Given the description of an element on the screen output the (x, y) to click on. 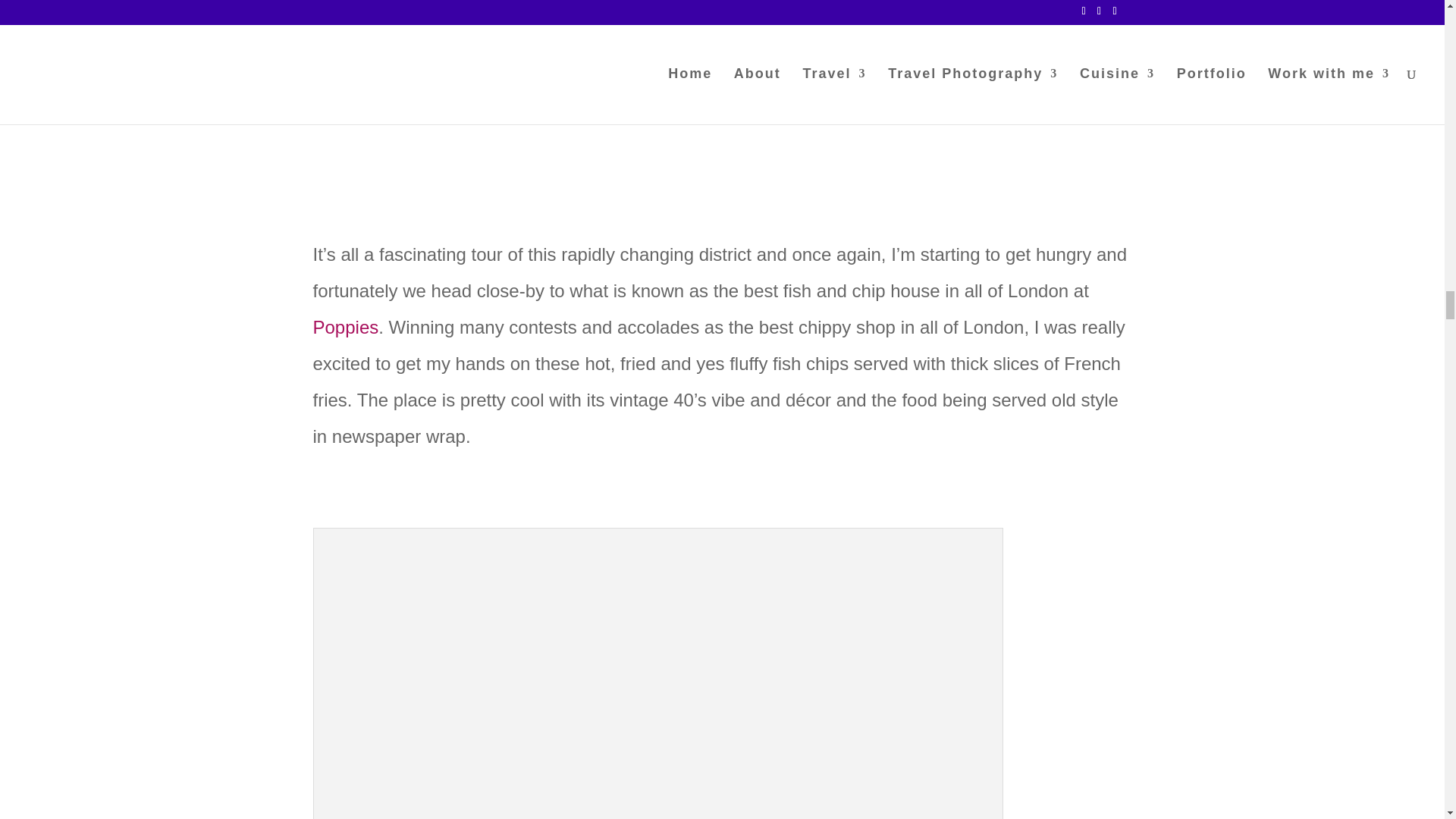
Eating London 28 (657, 9)
